Given the description of an element on the screen output the (x, y) to click on. 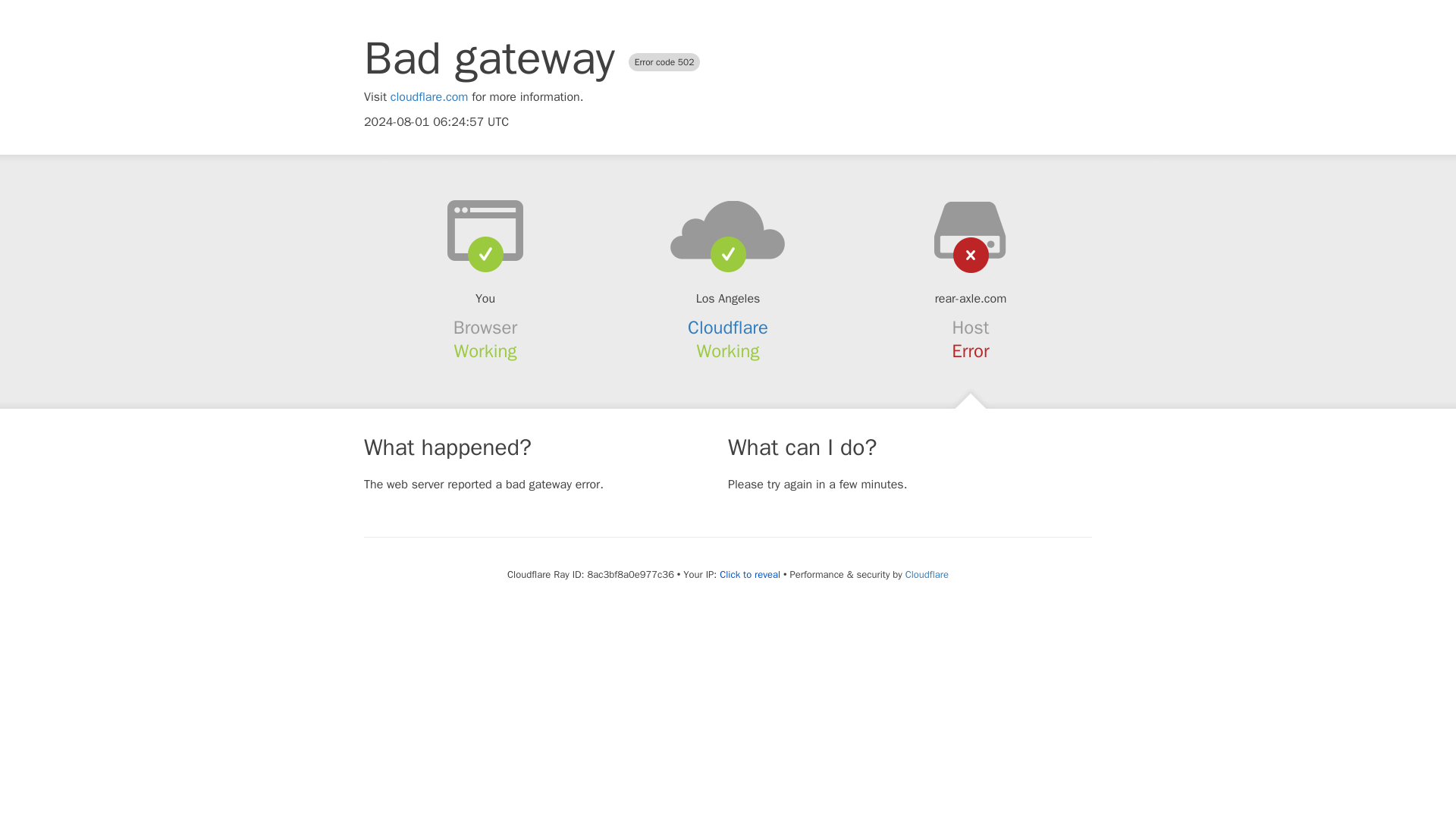
Cloudflare (927, 574)
Cloudflare (727, 327)
Click to reveal (749, 574)
cloudflare.com (429, 96)
